Given the description of an element on the screen output the (x, y) to click on. 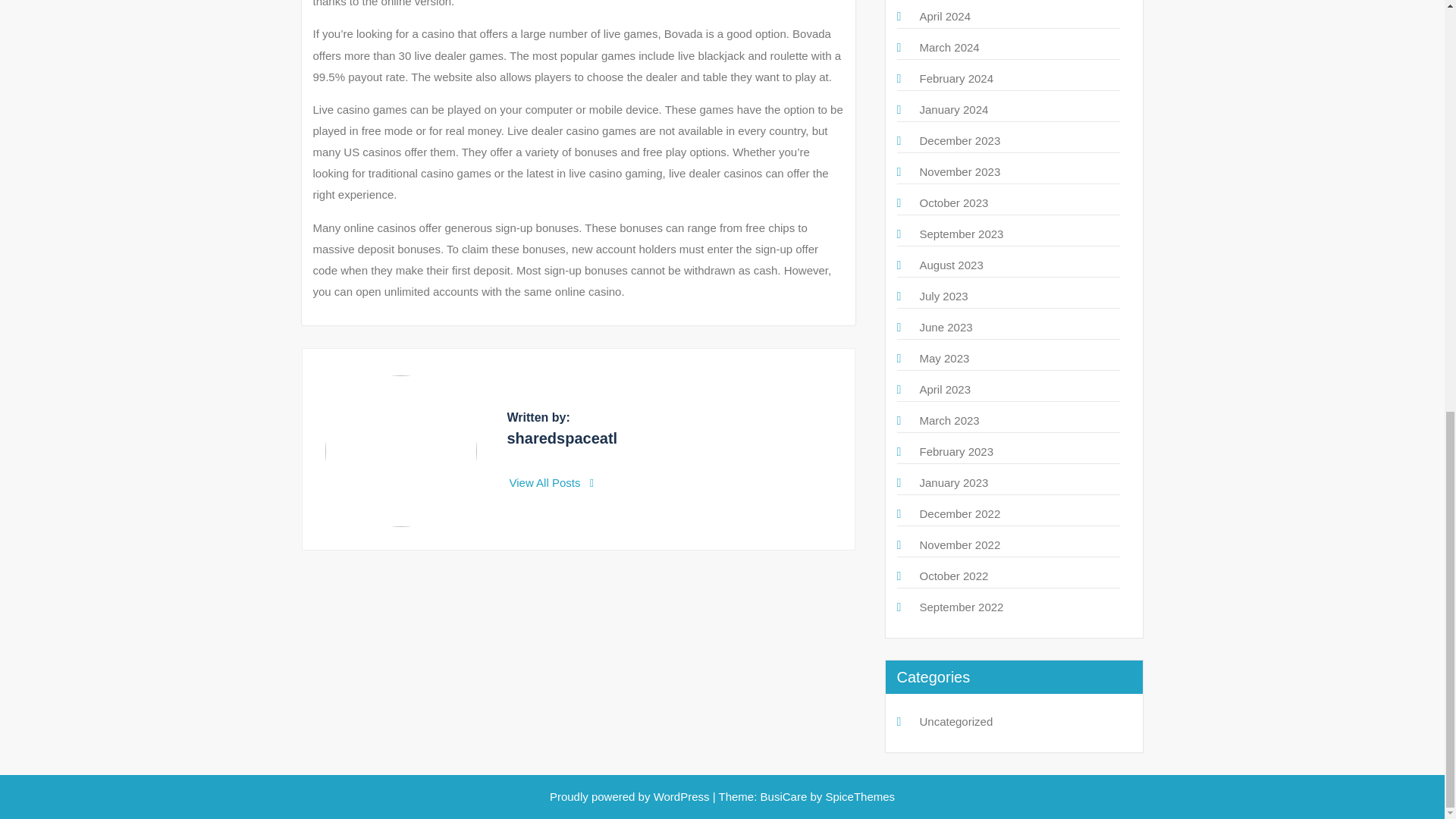
December 2023 (959, 140)
February 2023 (955, 451)
August 2023 (950, 264)
April 2024 (944, 15)
September 2023 (960, 233)
February 2024 (955, 78)
October 2023 (953, 202)
January 2023 (953, 481)
September 2022 (960, 606)
January 2024 (953, 109)
March 2023 (948, 420)
November 2022 (959, 544)
June 2023 (945, 327)
March 2024 (948, 47)
November 2023 (959, 171)
